Given the description of an element on the screen output the (x, y) to click on. 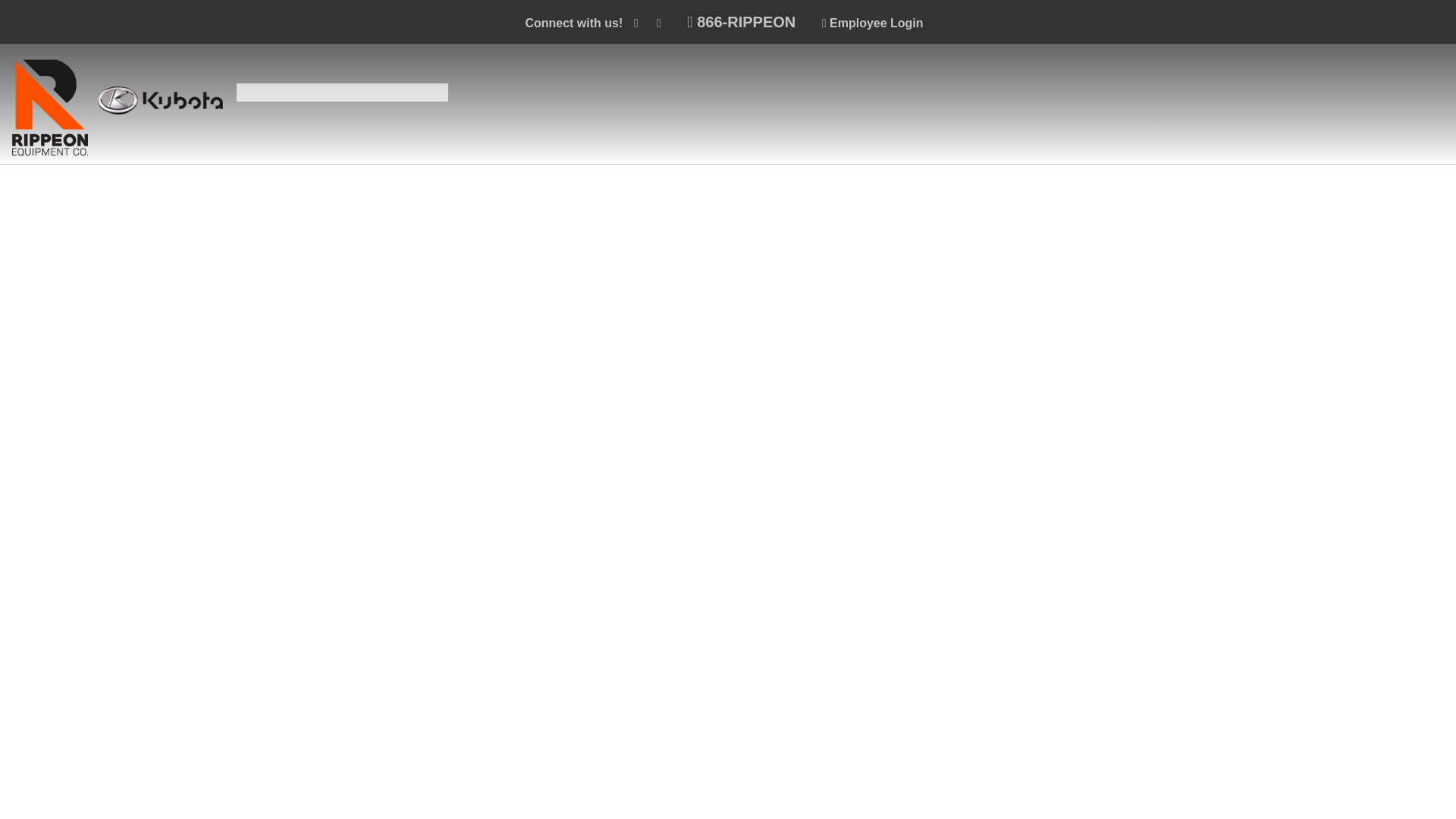
Kubota (159, 100)
Employee Login (872, 22)
866-RIPPEON (740, 21)
